Given the description of an element on the screen output the (x, y) to click on. 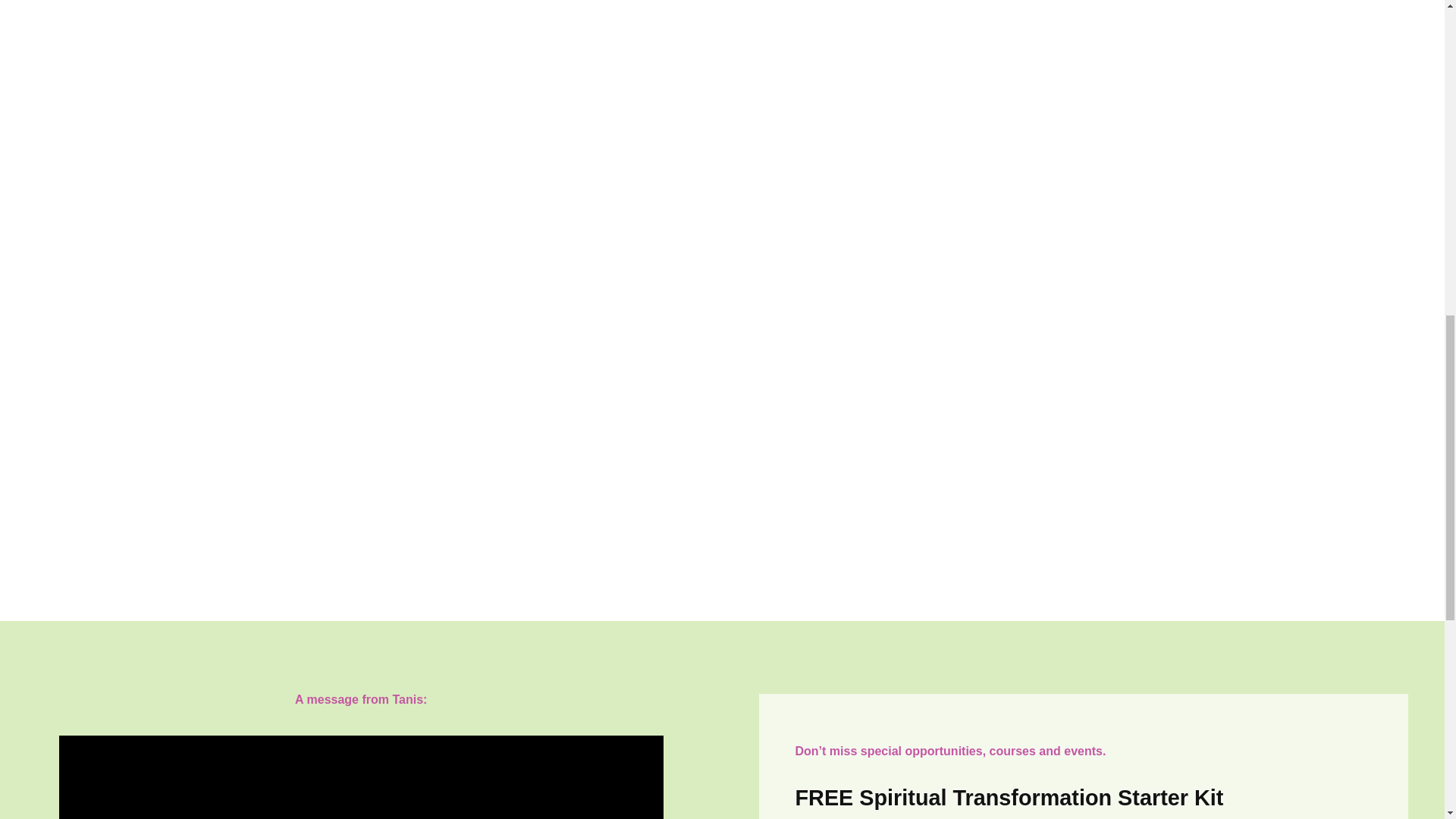
vimeo Video Player (361, 777)
